Given the description of an element on the screen output the (x, y) to click on. 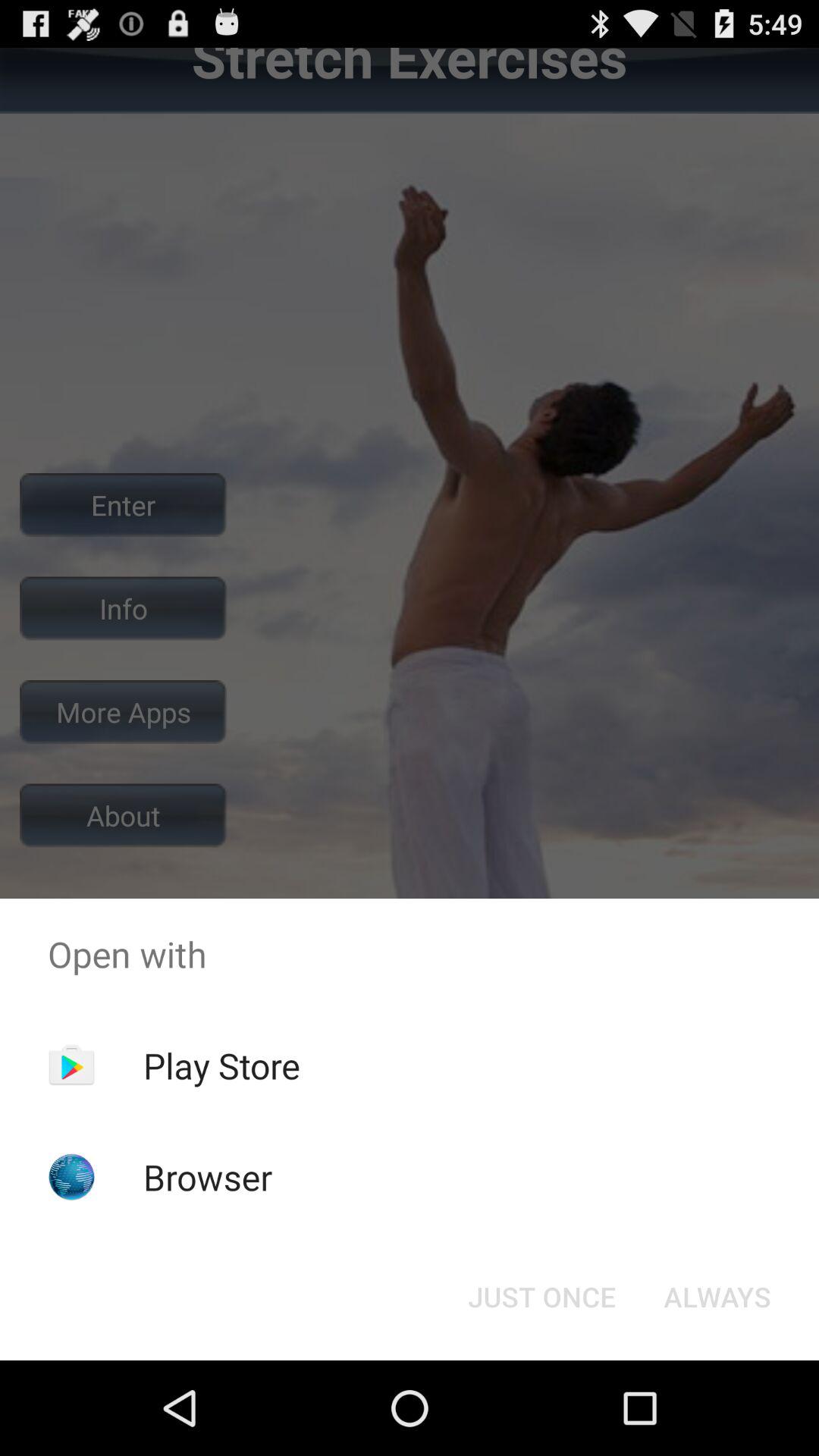
turn off the icon below the play store app (207, 1176)
